Given the description of an element on the screen output the (x, y) to click on. 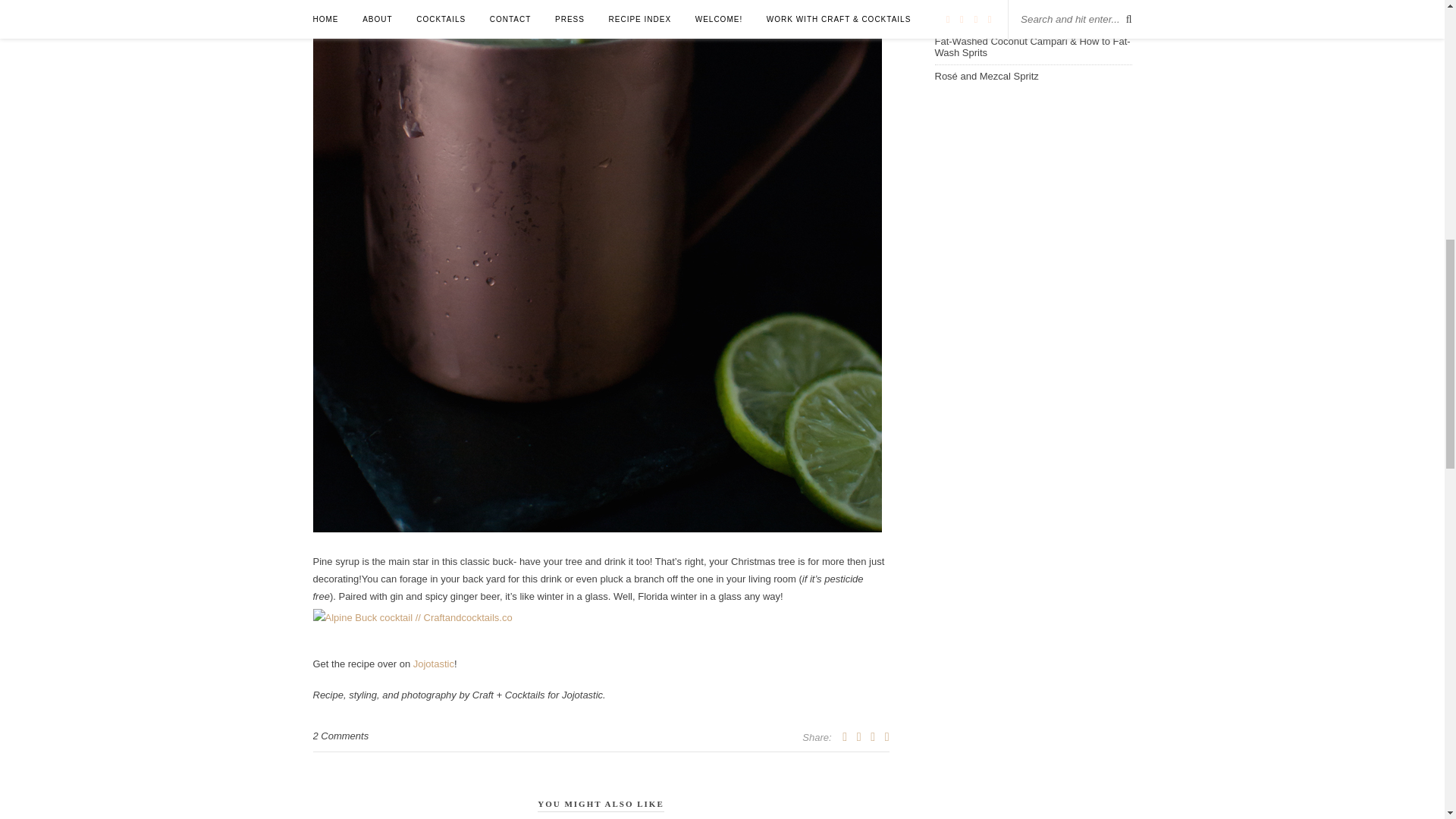
Jojotastic (433, 663)
2 Comments (340, 736)
